Given the description of an element on the screen output the (x, y) to click on. 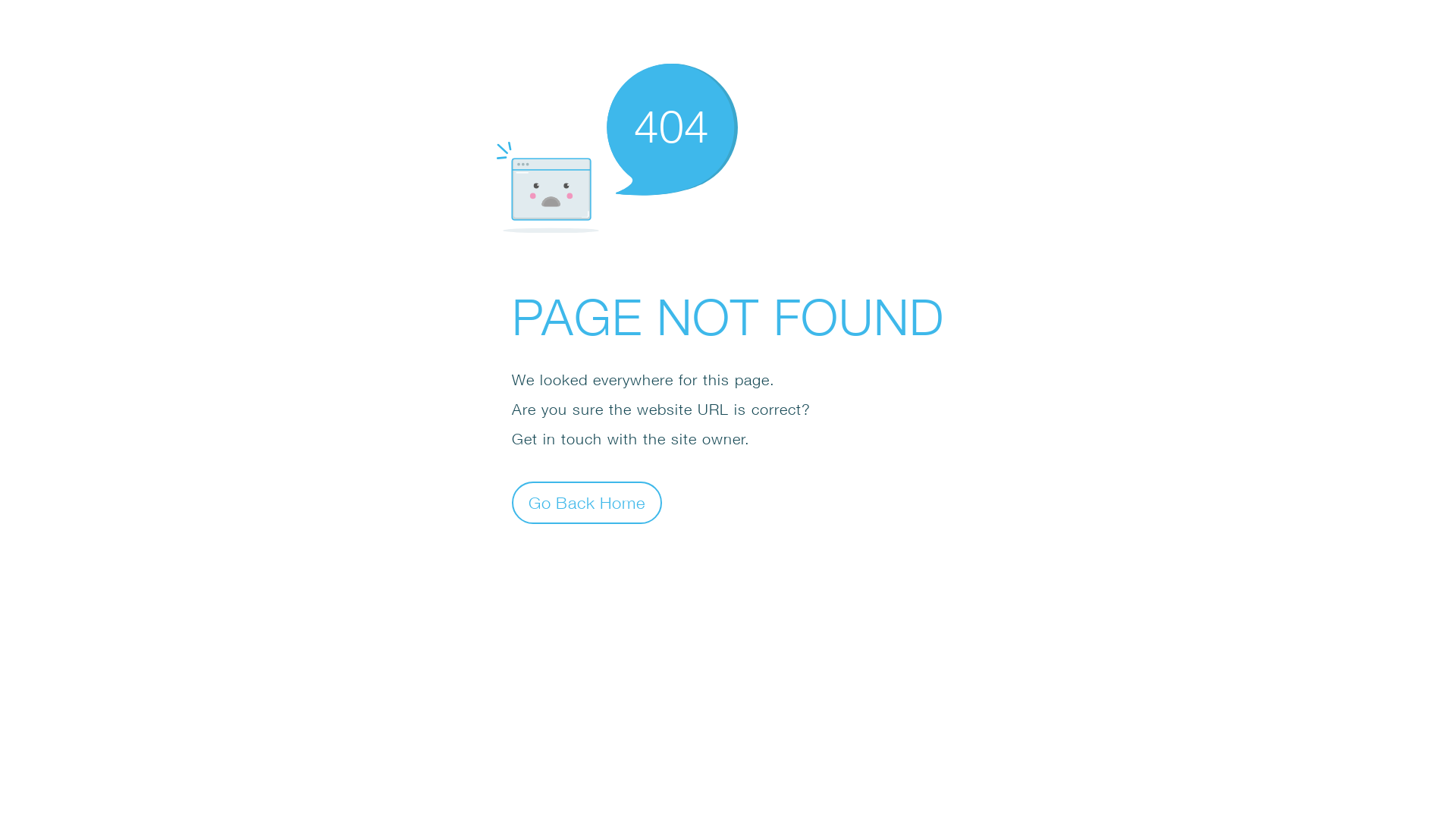
Go Back Home Element type: text (586, 502)
